Given the description of an element on the screen output the (x, y) to click on. 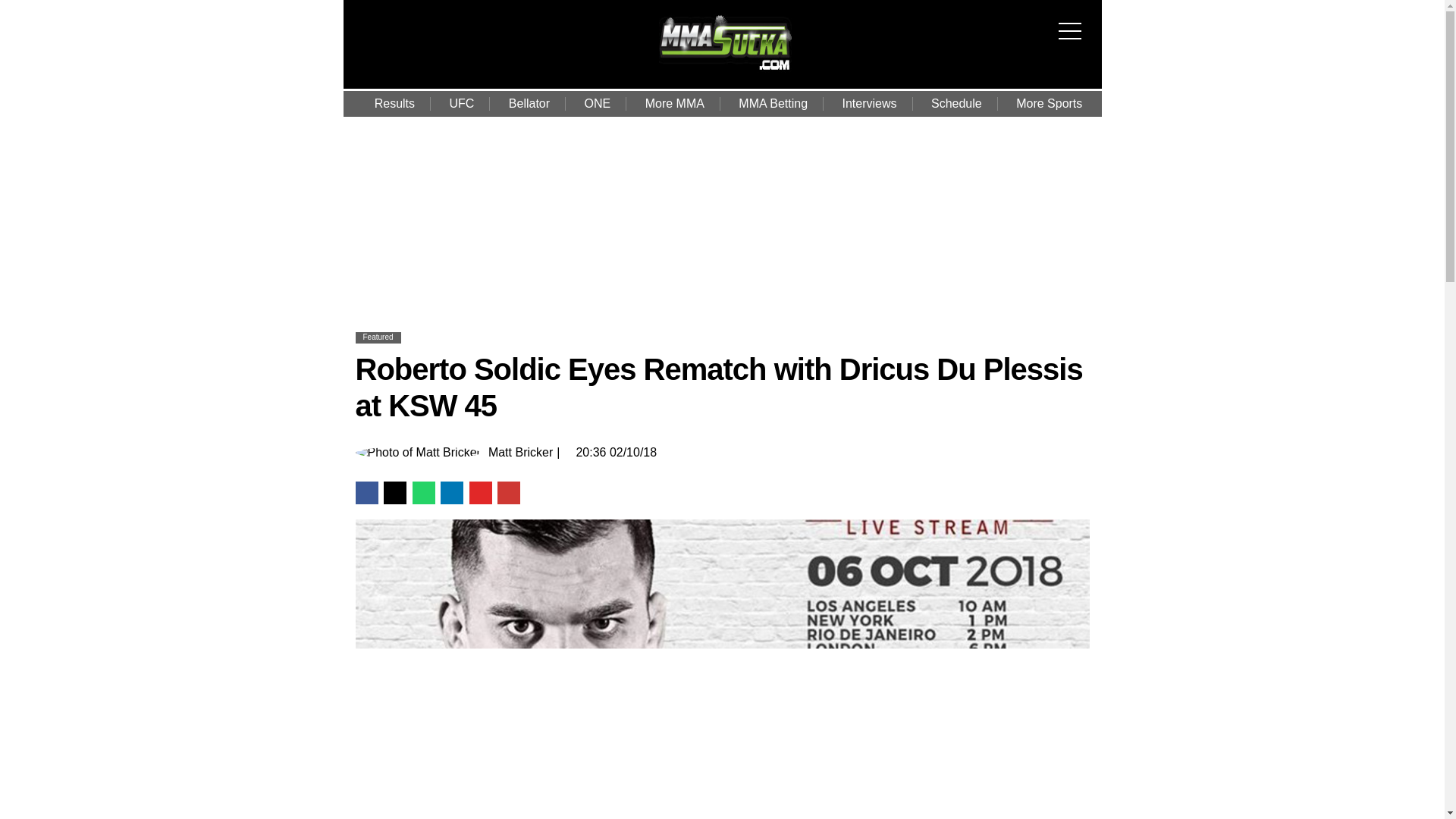
Back to the homepage (725, 70)
UFC (461, 103)
ONE (597, 103)
Menu (1074, 21)
More MMA (674, 103)
Bellator (528, 103)
Results (394, 103)
